Given the description of an element on the screen output the (x, y) to click on. 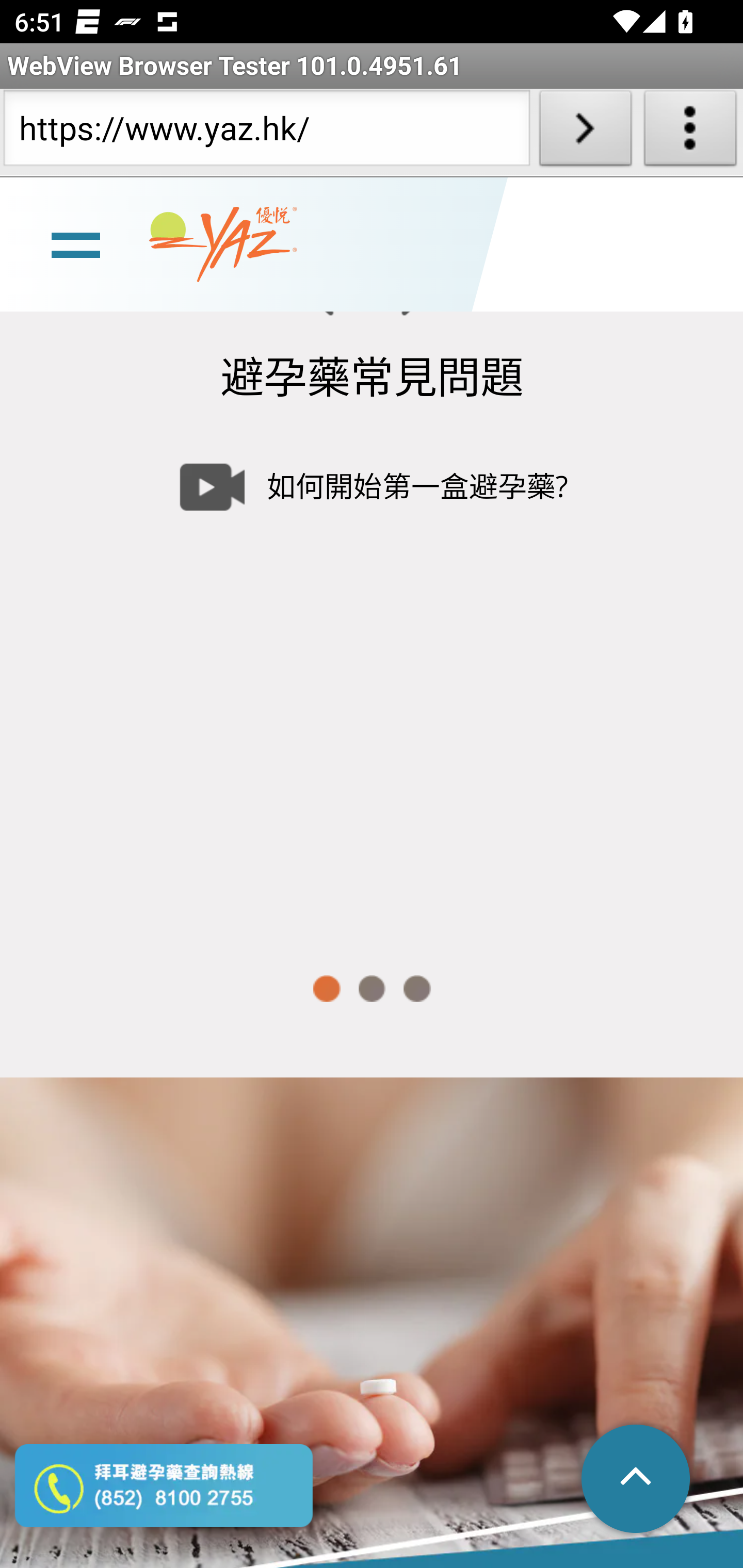
https://www.yaz.hk/ (266, 132)
Load URL (585, 132)
About WebView (690, 132)
www.yaz (222, 244)
line Toggle burger menu (75, 242)
slide 1 如何開始第一盒避孕藥? Video Player Video Player (371, 678)
slide 1 如何開始第一盒避孕藥? Video Player Video Player (371, 678)
1 of 3 (326, 988)
2 of 3 (371, 988)
3 of 3 (416, 988)
 (636, 1480)
